Given the description of an element on the screen output the (x, y) to click on. 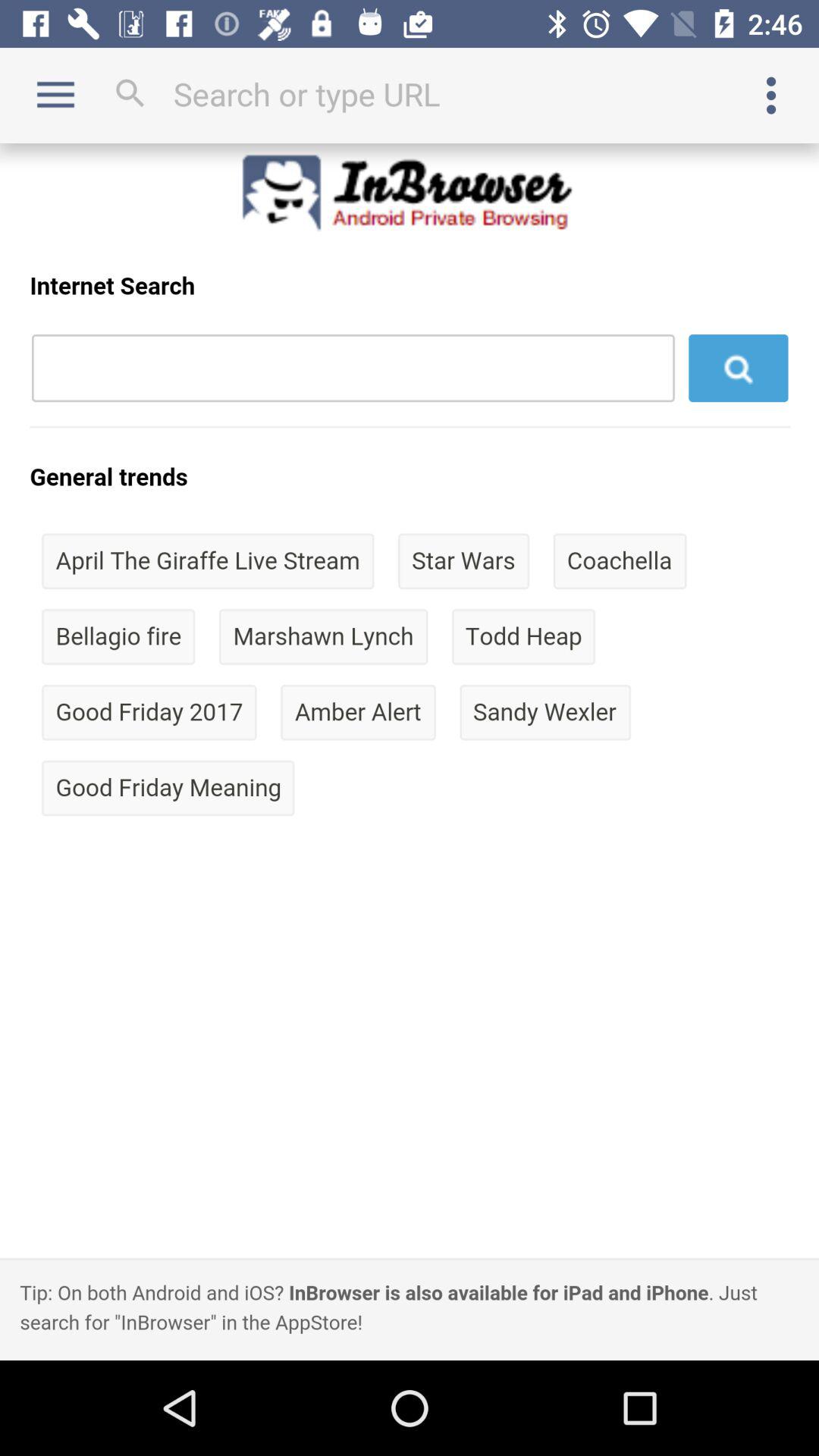
options menu button (771, 95)
